Given the description of an element on the screen output the (x, y) to click on. 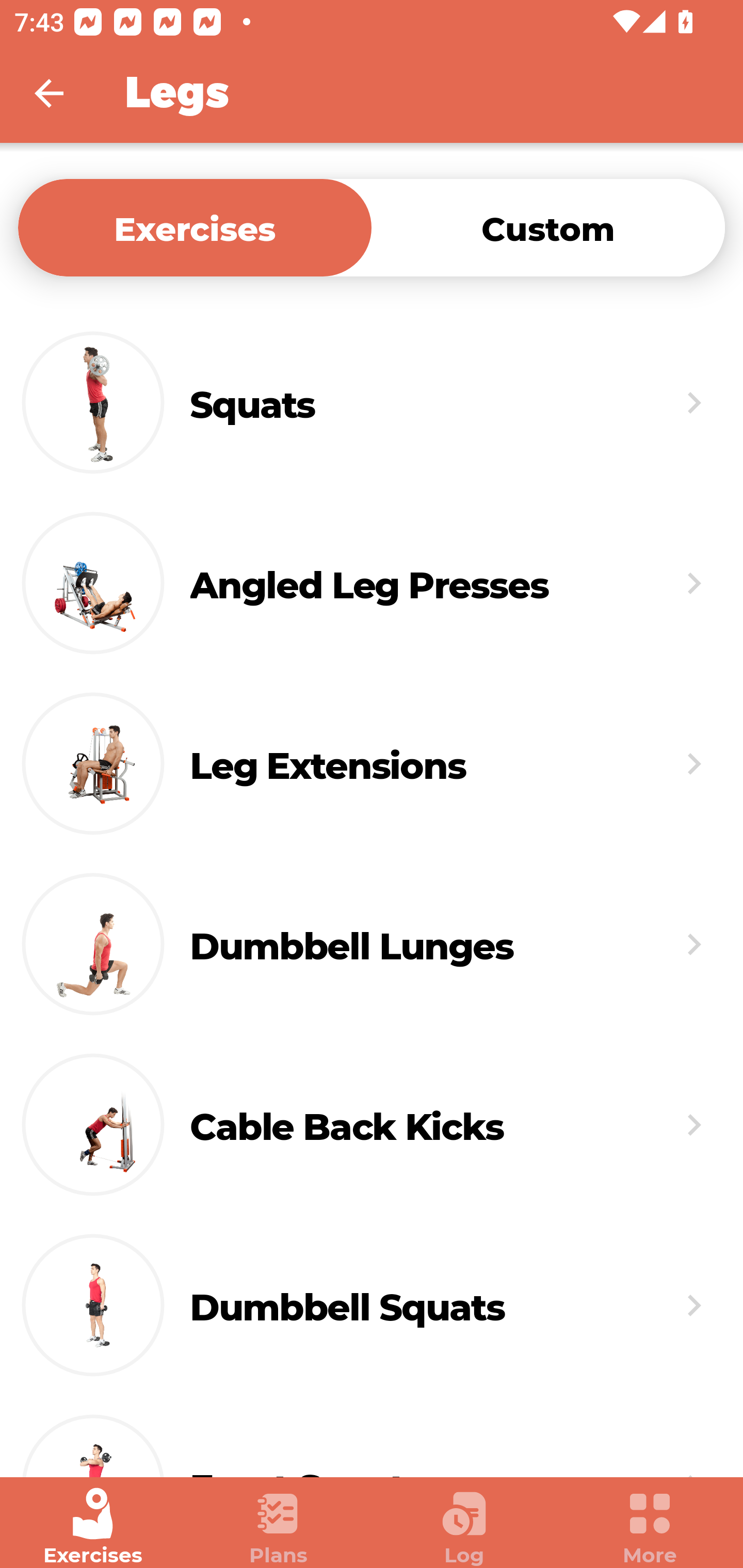
Back (62, 92)
Exercises (194, 226)
Custom (548, 226)
Exercises (92, 1527)
Plans (278, 1527)
Log (464, 1527)
More (650, 1527)
